Given the description of an element on the screen output the (x, y) to click on. 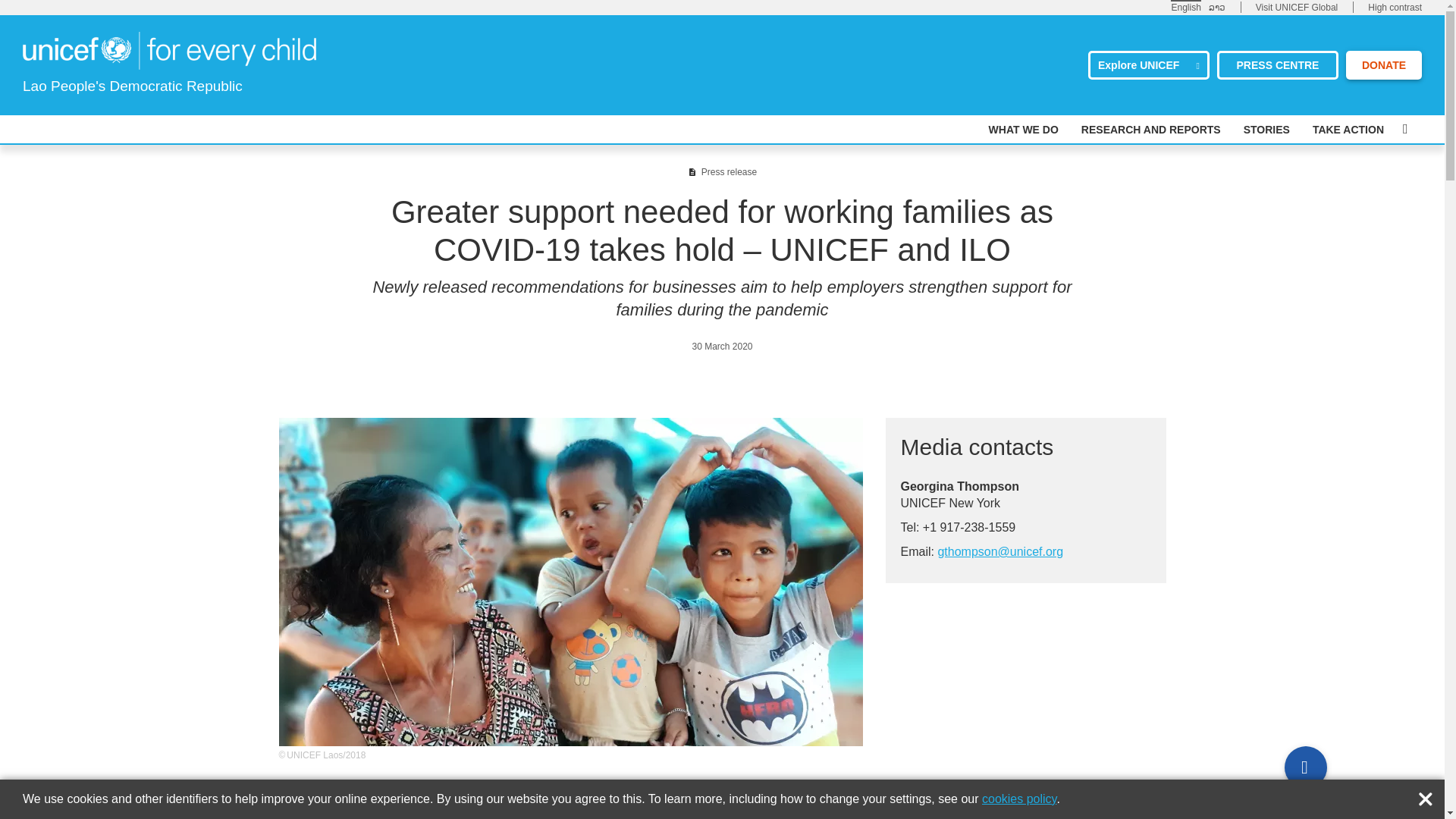
RESEARCH AND REPORTS (1151, 129)
Explore UNICEF (1148, 63)
STORIES (1266, 129)
UNICEF (169, 49)
Visit UNICEF Global (1296, 7)
cookies policy (1019, 798)
PRESS CENTRE (1277, 63)
English (1184, 6)
WHAT WE DO (1023, 129)
High contrast (1395, 7)
TAKE ACTION (1348, 129)
Lao People's Democratic Republic (169, 50)
DONATE (1383, 63)
Explore UNICEF (1148, 63)
